Given the description of an element on the screen output the (x, y) to click on. 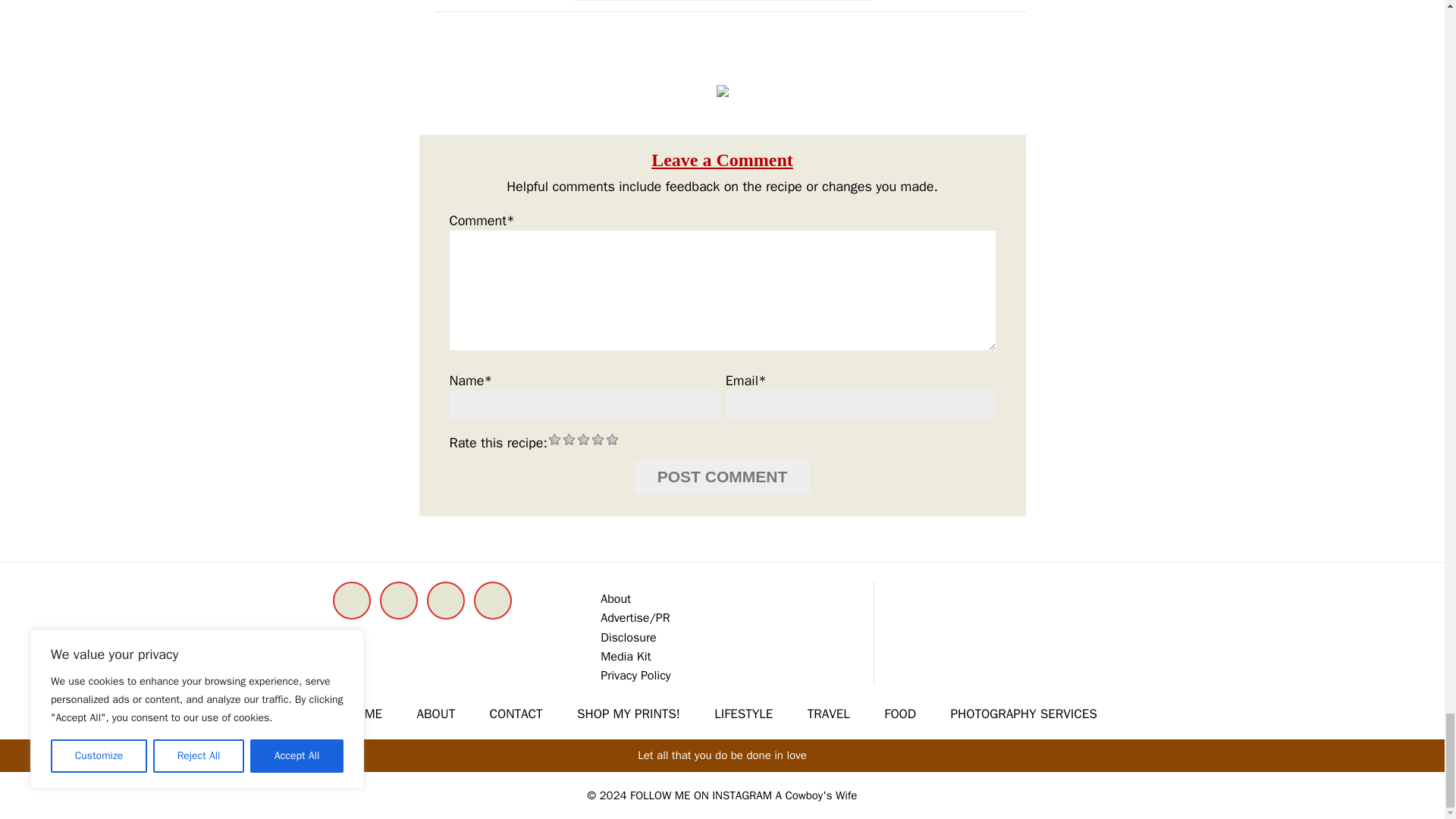
Post Comment (722, 476)
